Given the description of an element on the screen output the (x, y) to click on. 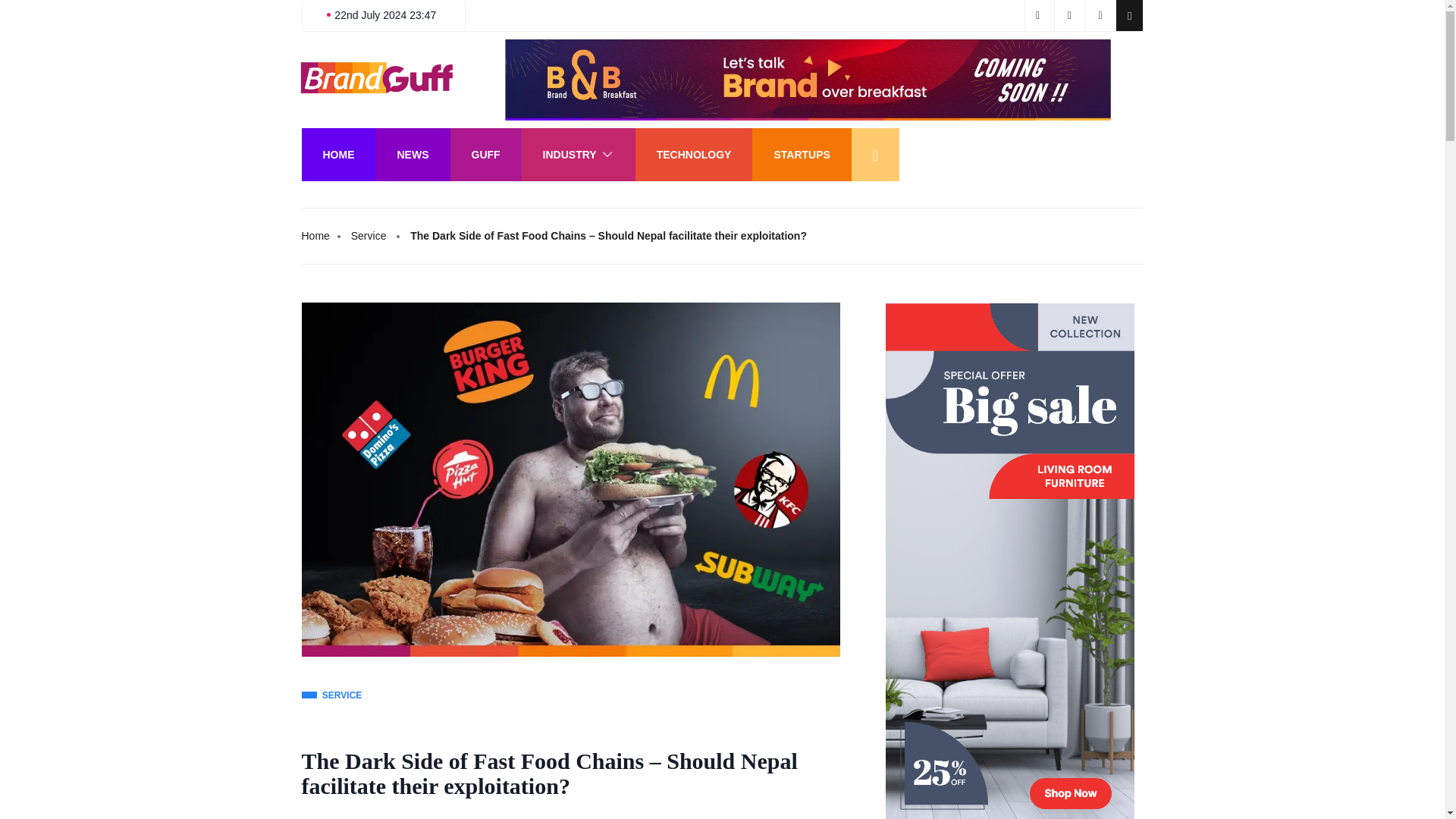
STARTUPS (801, 153)
GUFF (485, 153)
NEWS (412, 153)
TECHNOLOGY (693, 153)
SERVICE (331, 695)
INDUSTRY (577, 153)
Service (368, 235)
HOME (338, 153)
Home (315, 235)
